Given the description of an element on the screen output the (x, y) to click on. 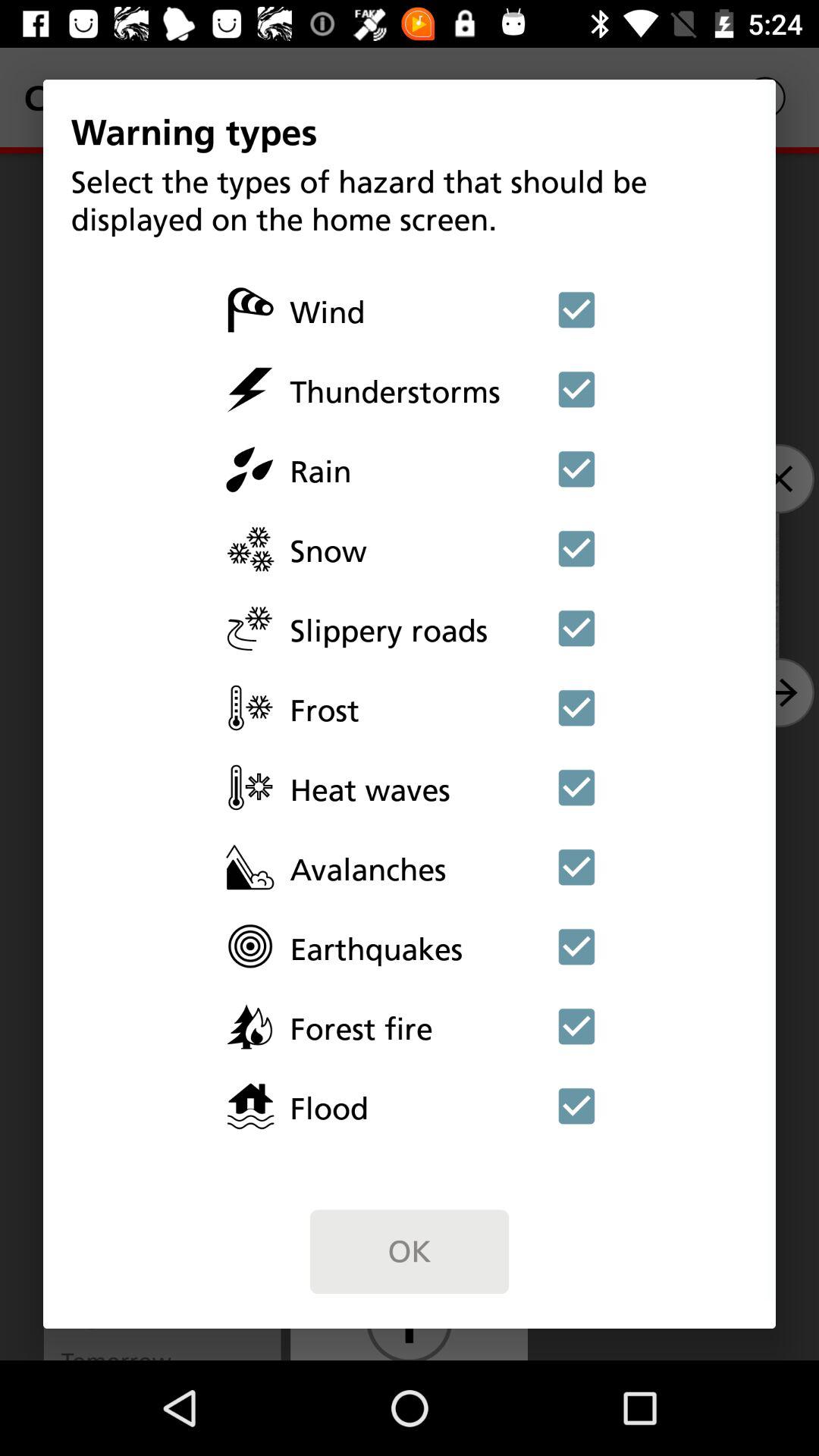
deselect earthquakes checkmark (576, 946)
